Given the description of an element on the screen output the (x, y) to click on. 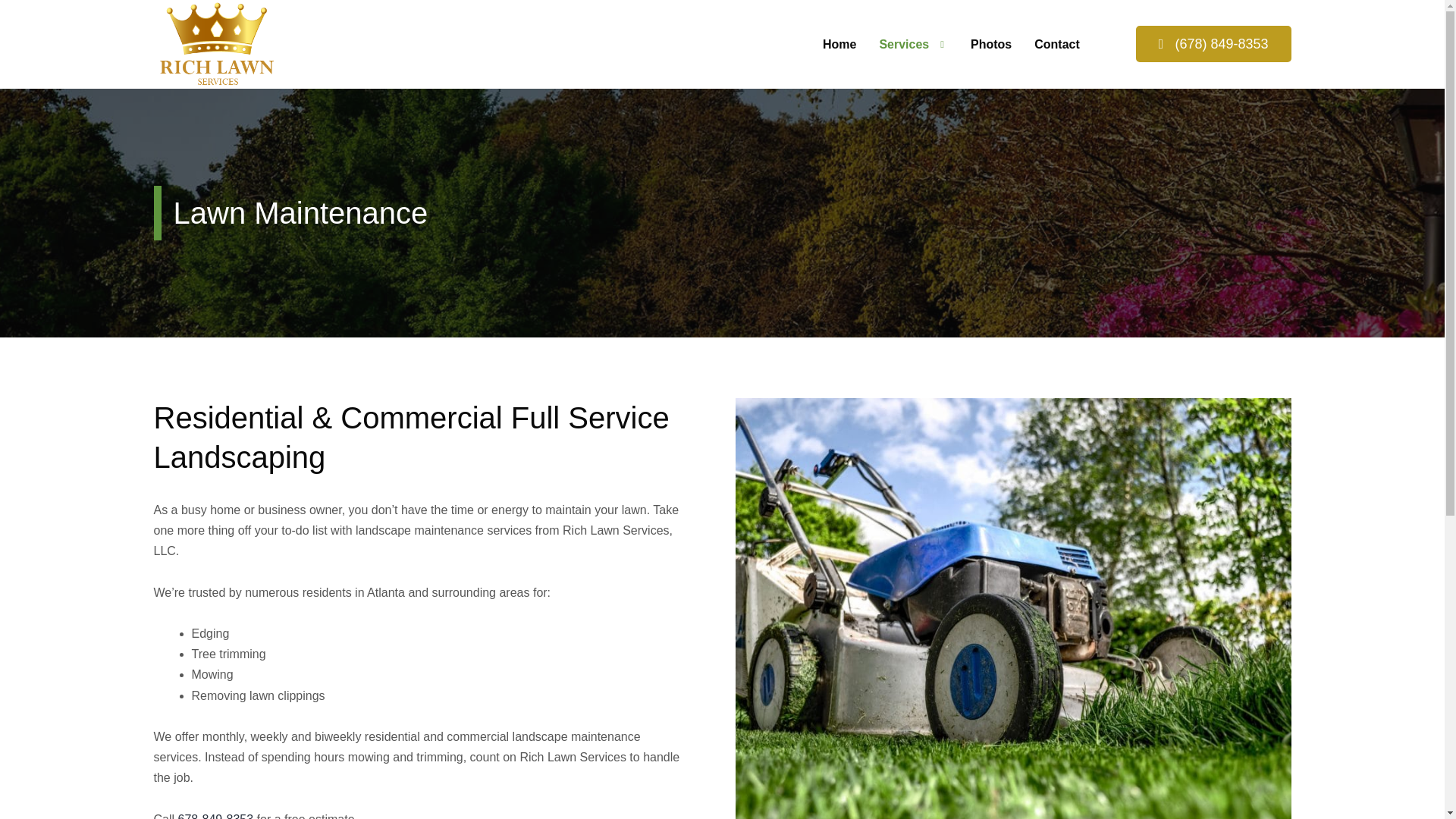
Services (913, 43)
Contact (1056, 43)
Home (838, 43)
678-849-8353 (215, 816)
Photos (991, 43)
